Given the description of an element on the screen output the (x, y) to click on. 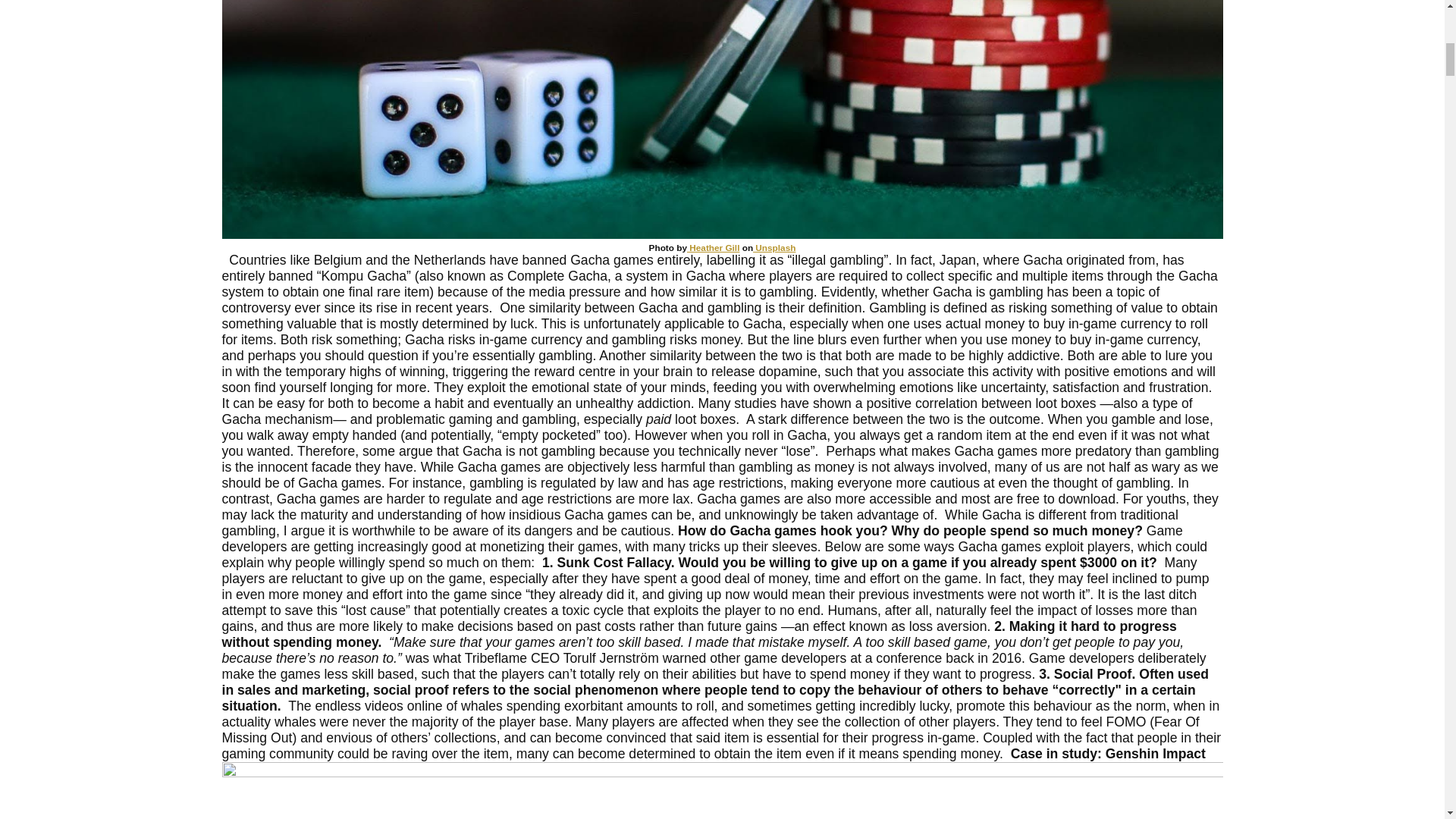
Heather Gill (713, 247)
Unsplash (773, 247)
